Given the description of an element on the screen output the (x, y) to click on. 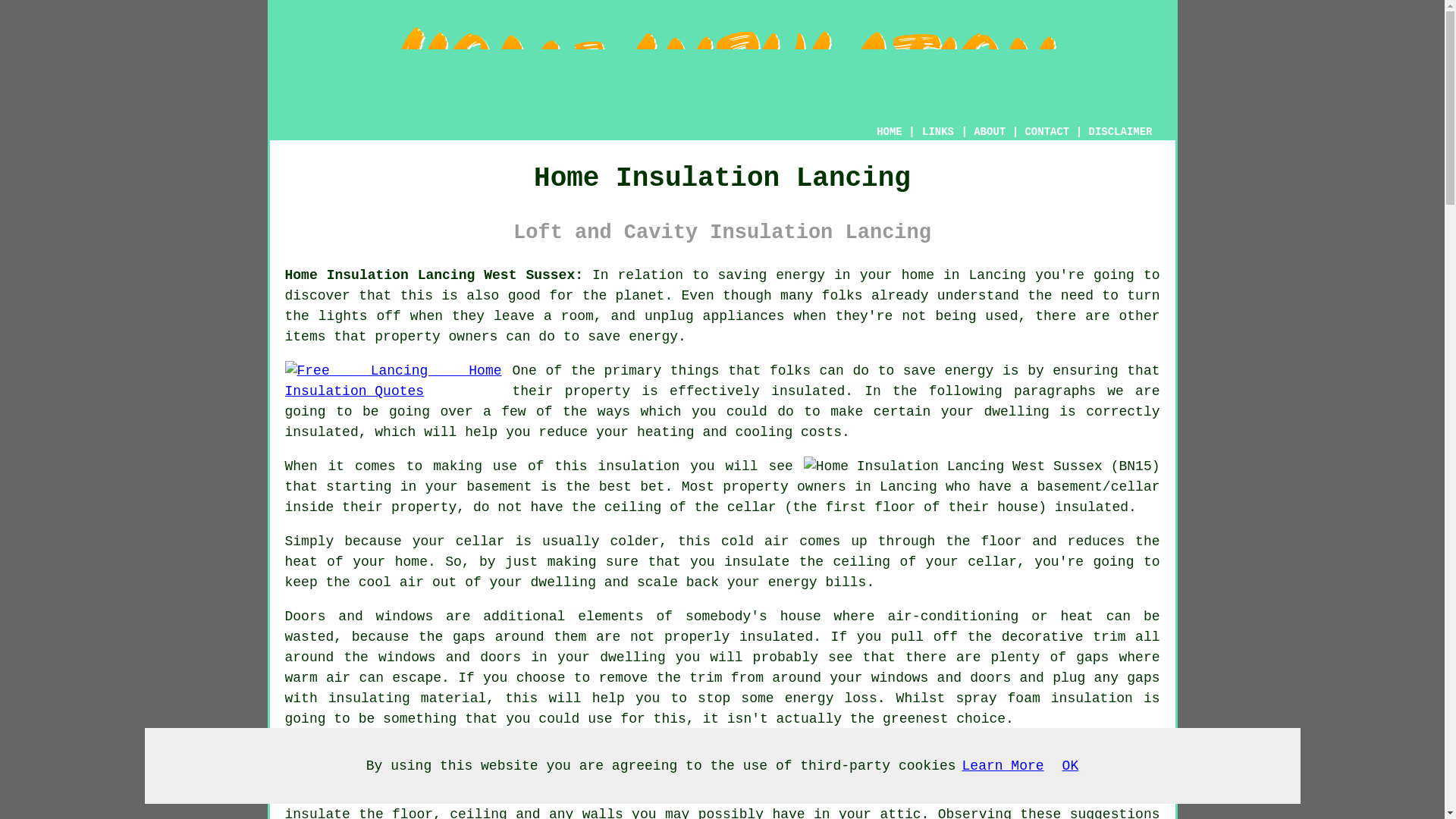
LINKS (938, 131)
HOME (889, 132)
Home Insulation Lancing (721, 67)
Free Lancing Home Insulation Quotes (393, 381)
